Given the description of an element on the screen output the (x, y) to click on. 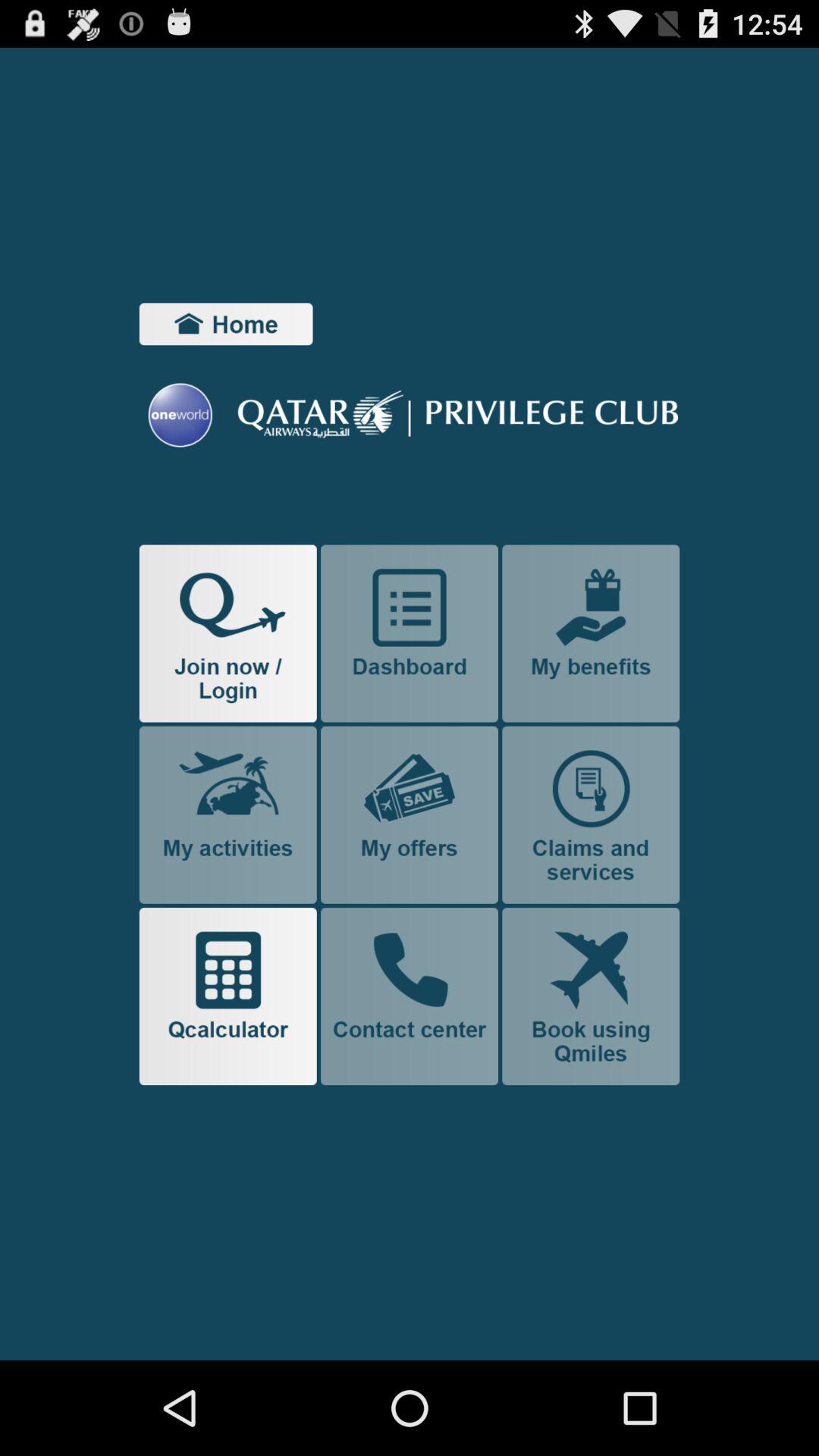
go to sign up or log in (227, 633)
